Given the description of an element on the screen output the (x, y) to click on. 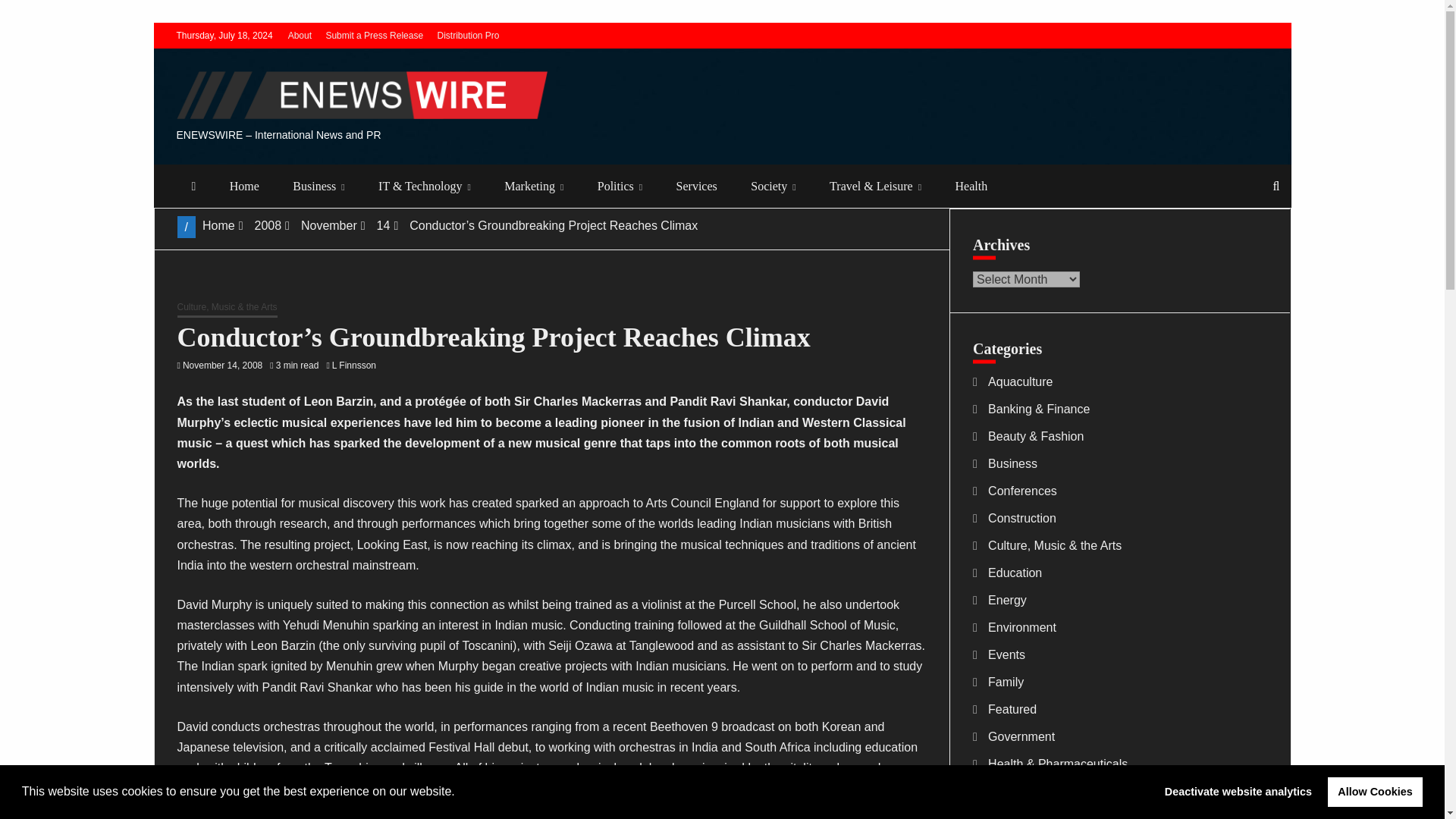
Business (318, 186)
Home (244, 186)
Politics (620, 186)
Deactivate website analytics (1238, 791)
Society (772, 186)
Marketing (533, 186)
Health (971, 186)
About (299, 35)
Home (244, 186)
2008 (267, 225)
Submit a Press Release (373, 35)
Allow Cookies (1374, 791)
Distribution Pro (467, 35)
Politics (620, 186)
Search (31, 13)
